Given the description of an element on the screen output the (x, y) to click on. 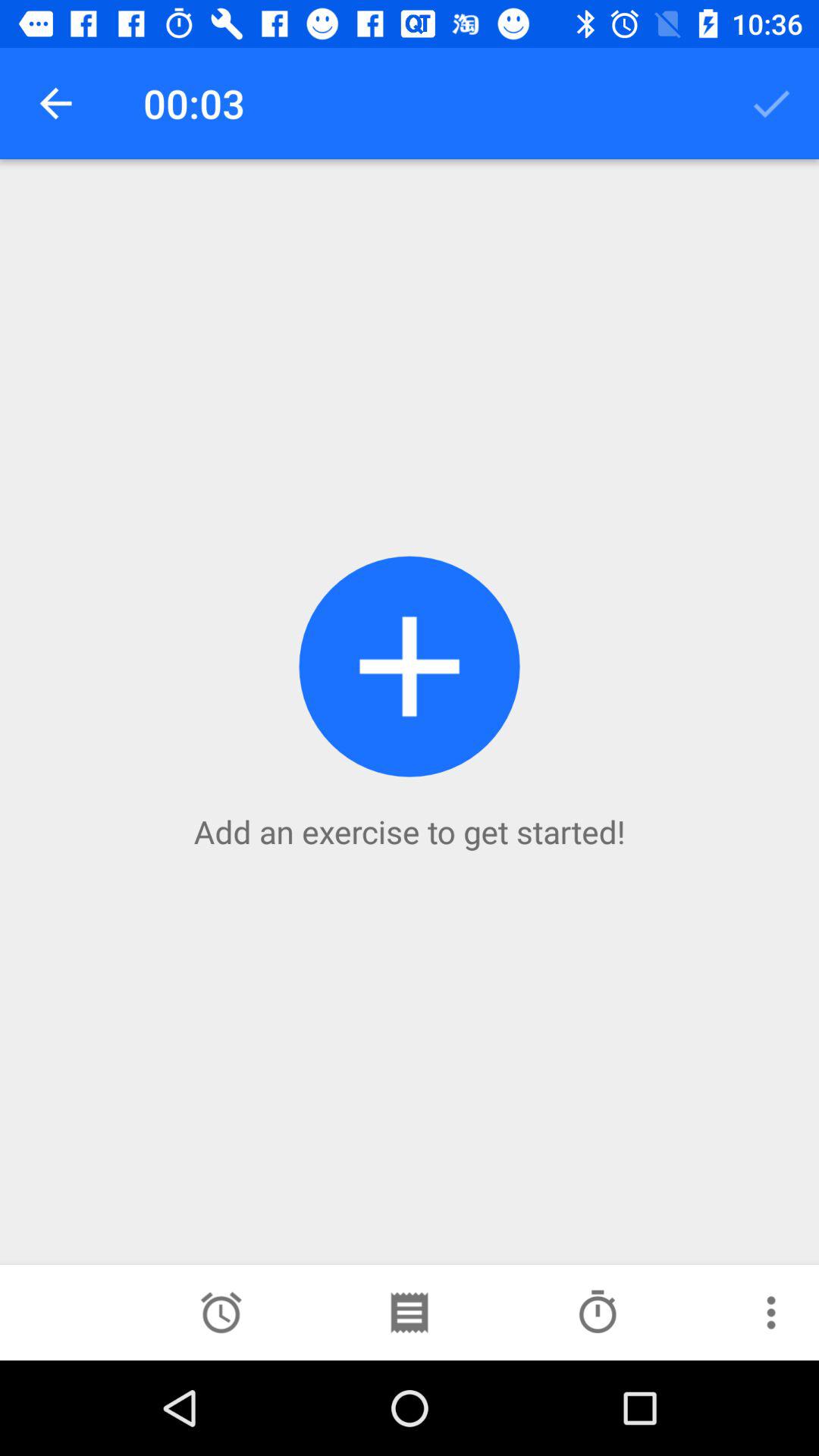
tap item below the add an exercise item (597, 1312)
